Given the description of an element on the screen output the (x, y) to click on. 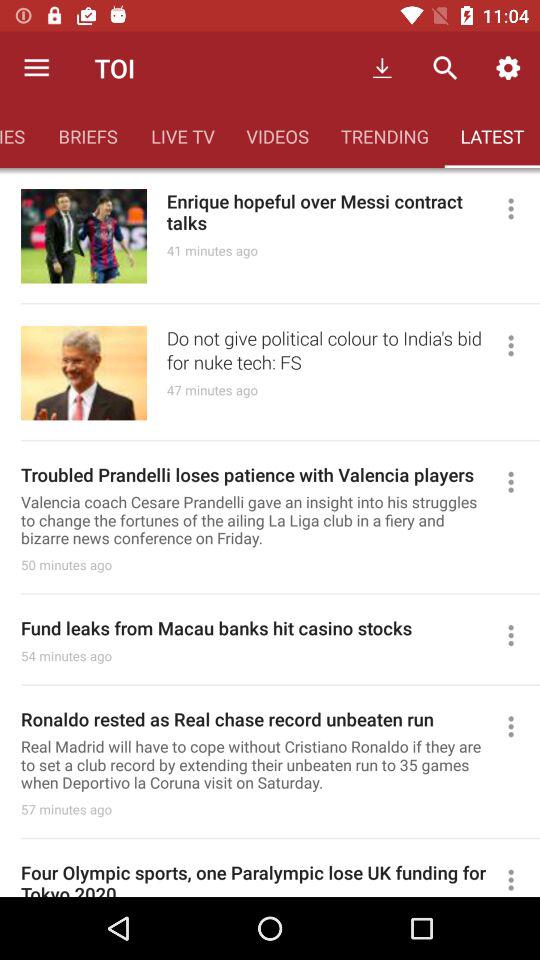
see more options for this headline (519, 878)
